Given the description of an element on the screen output the (x, y) to click on. 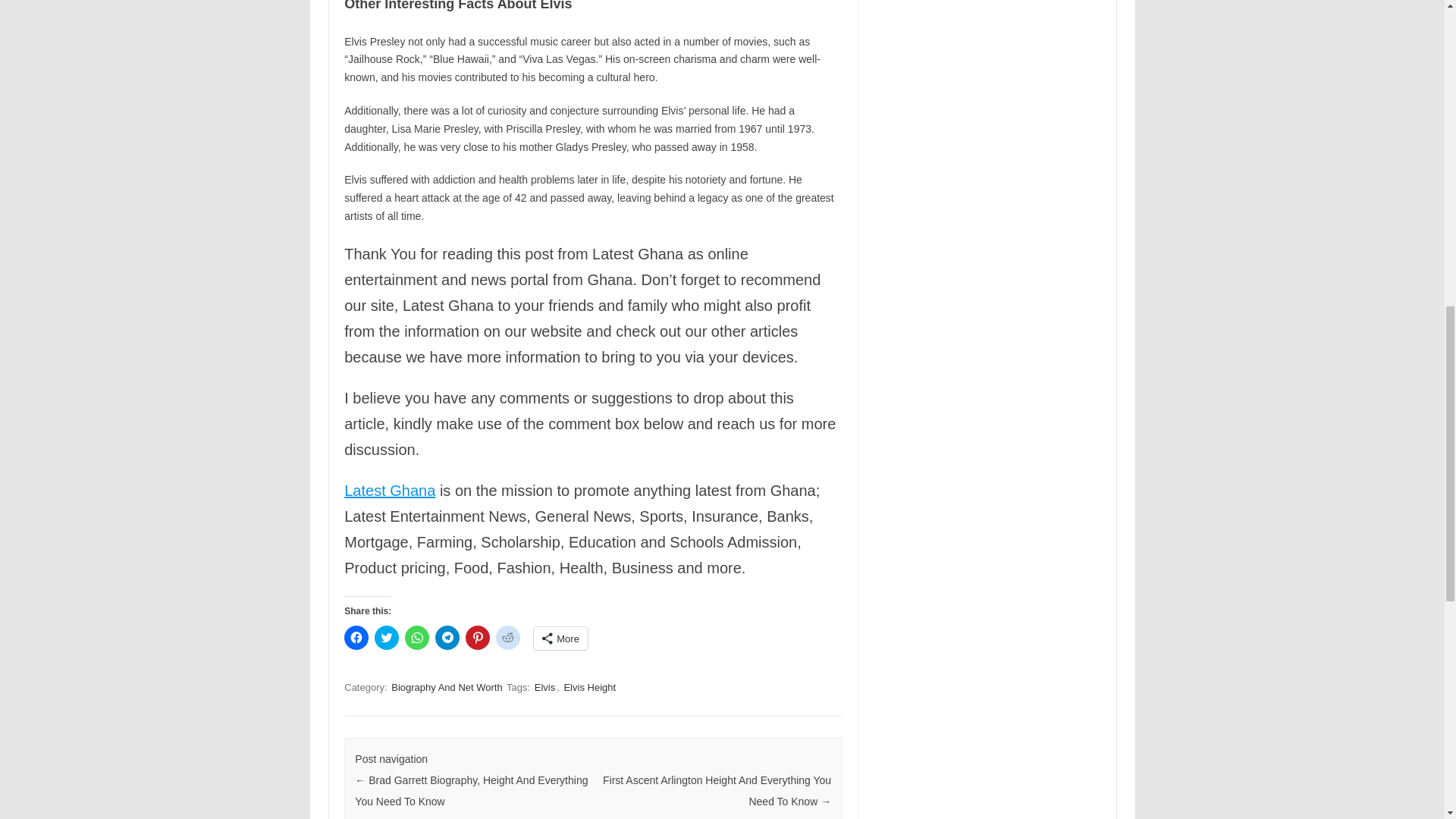
Click to share on Facebook (355, 637)
Click to share on Pinterest (477, 637)
Click to share on WhatsApp (416, 637)
Latest Ghana (389, 490)
Click to share on Reddit (507, 637)
More (561, 638)
Elvis Height (589, 687)
Elvis (544, 687)
Biography And Net Worth (446, 687)
Click to share on Twitter (386, 637)
